Given the description of an element on the screen output the (x, y) to click on. 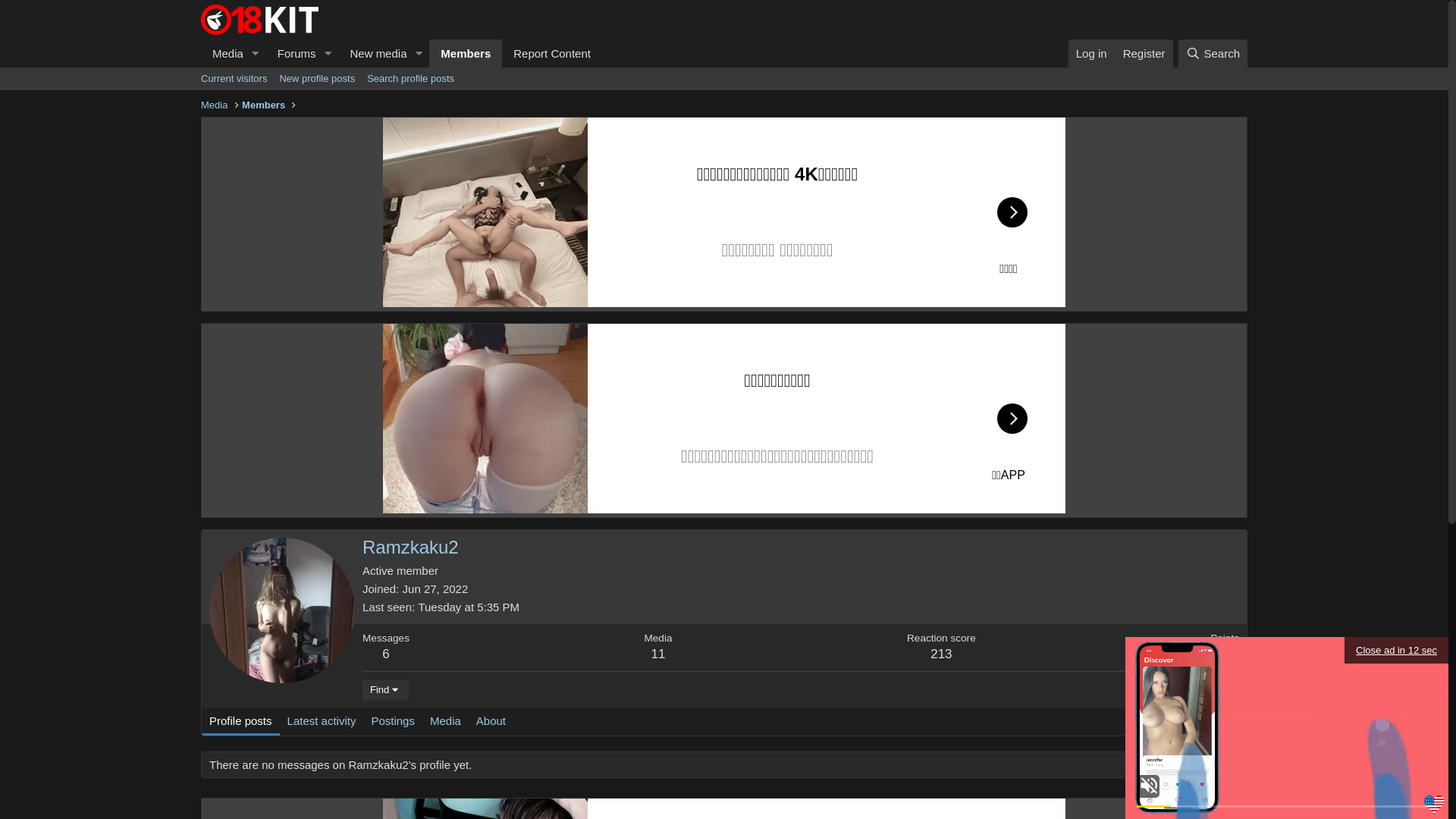
Media Element type: text (213, 104)
New profile posts Element type: text (316, 78)
Search Element type: text (1212, 53)
Log in Element type: text (1091, 53)
Forums Element type: text (291, 53)
Find Element type: text (385, 689)
About Element type: text (490, 721)
Profile posts Element type: text (240, 721)
Search profile posts Element type: text (410, 78)
Current visitors Element type: text (233, 78)
6 Element type: text (385, 653)
Register Element type: text (1143, 53)
New media Element type: text (372, 53)
11 Element type: text (658, 653)
Postings Element type: text (392, 721)
Members Element type: text (263, 104)
Media Element type: text (445, 721)
Media Element type: text (222, 53)
28 Element type: text (1224, 653)
Report Content Element type: text (552, 53)
Members Element type: text (465, 53)
Latest activity Element type: text (321, 721)
